Given the description of an element on the screen output the (x, y) to click on. 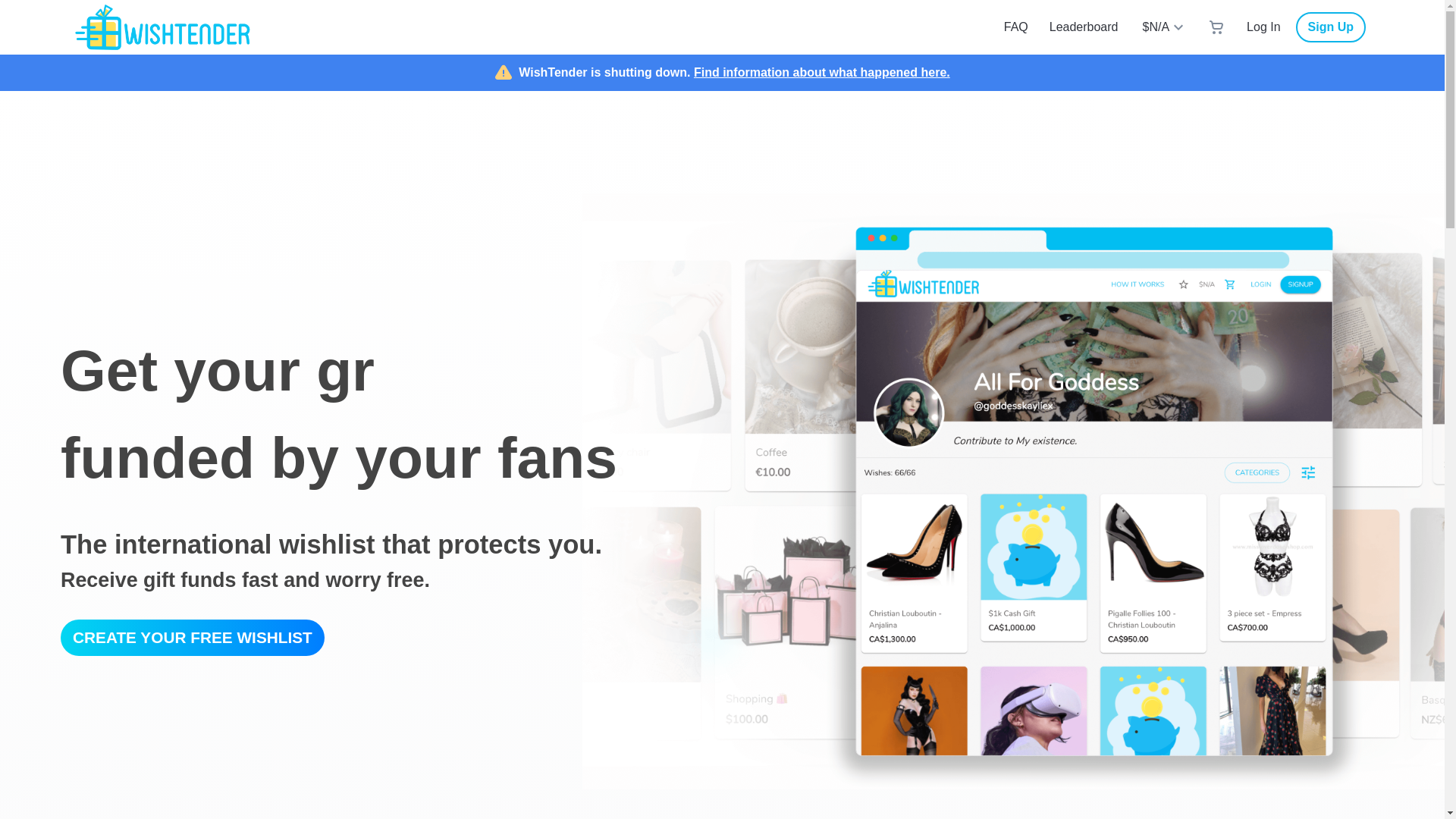
CREATE YOUR FREE WISHLIST (192, 637)
Log In (1262, 27)
Find information about what happened here. (822, 72)
FAQ (1016, 27)
Sign Up (1330, 27)
Leaderboard (1083, 27)
